Given the description of an element on the screen output the (x, y) to click on. 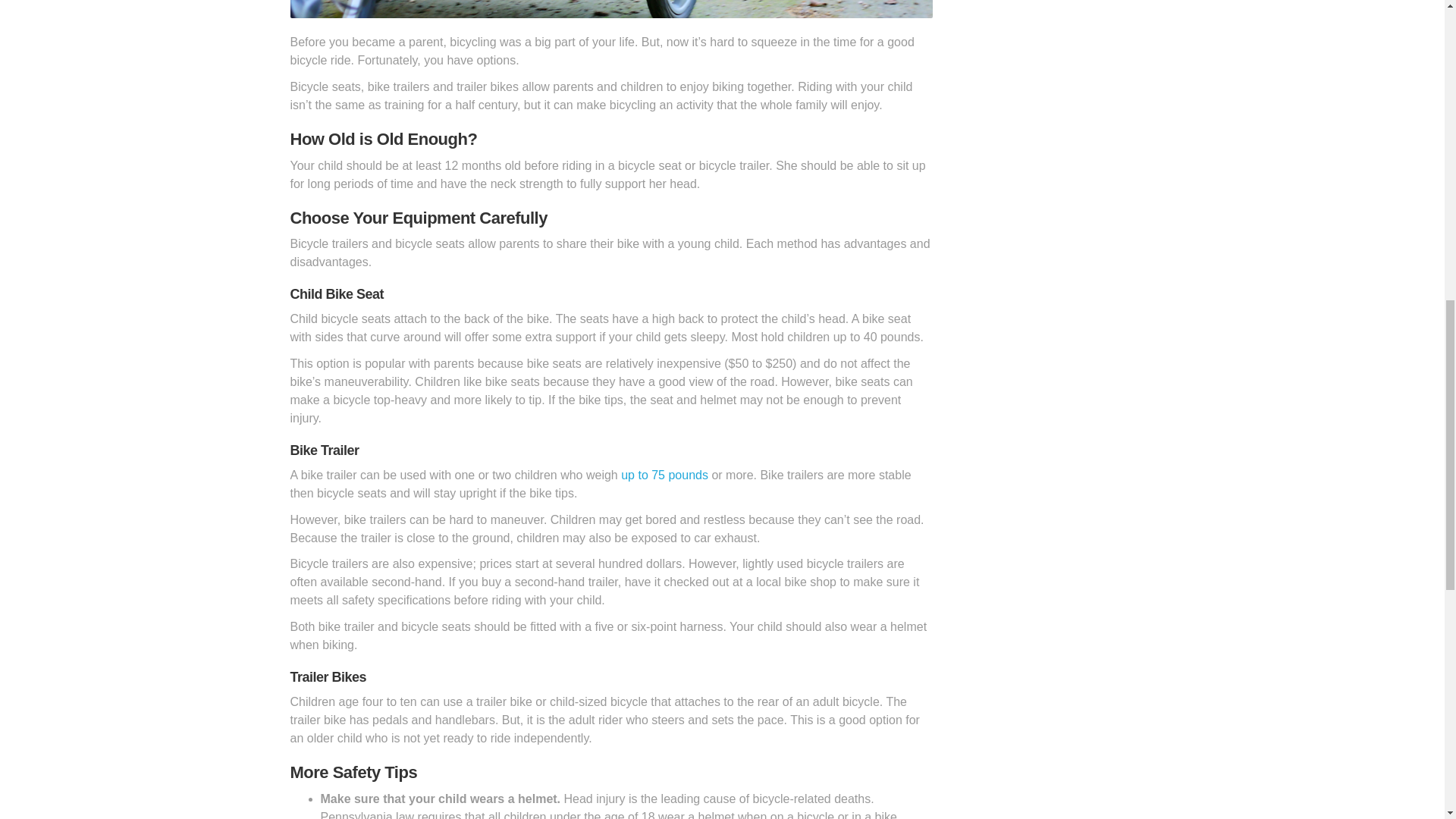
up to 75 pounds (664, 474)
